Given the description of an element on the screen output the (x, y) to click on. 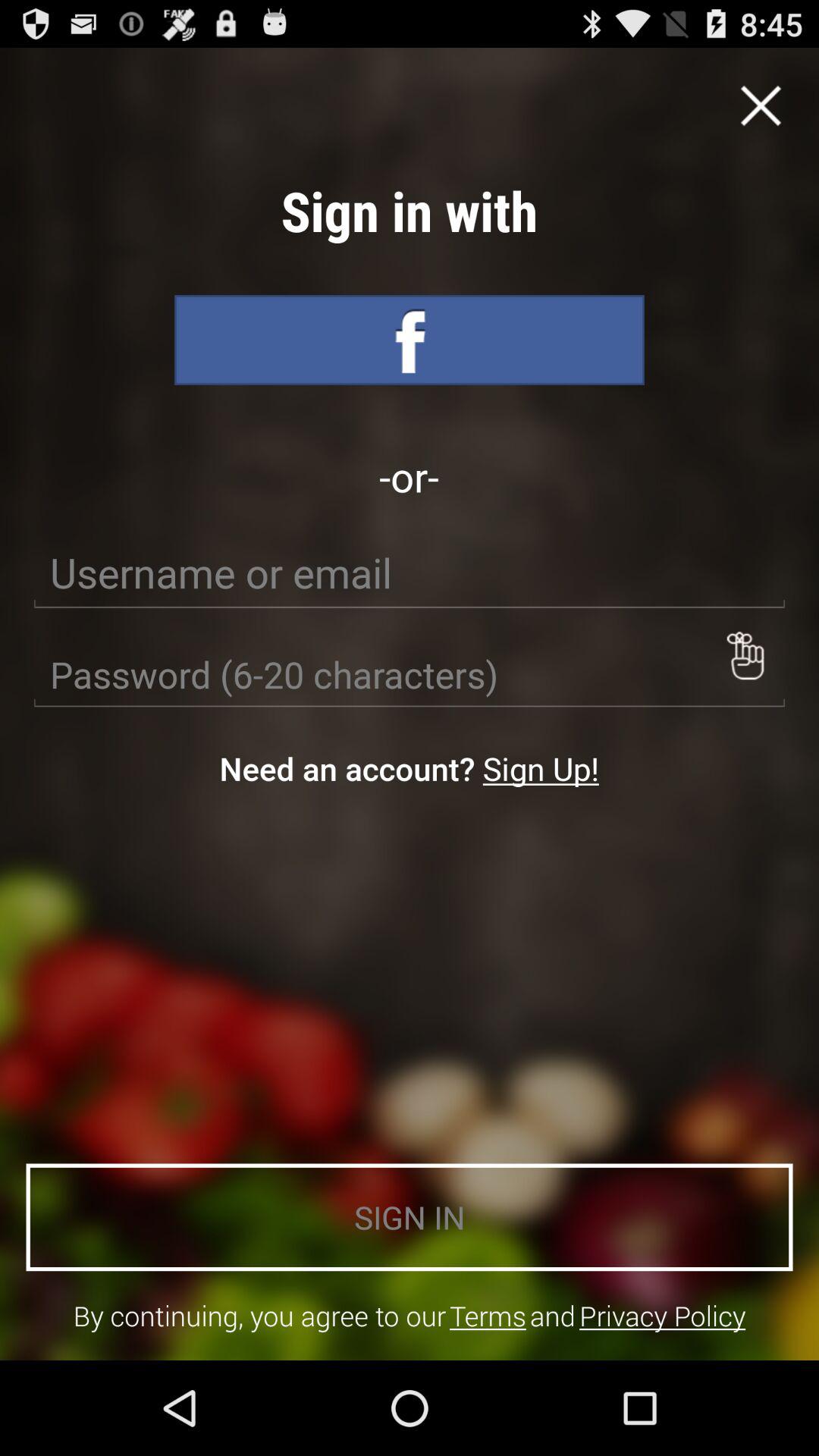
enter user name to login (409, 572)
